Given the description of an element on the screen output the (x, y) to click on. 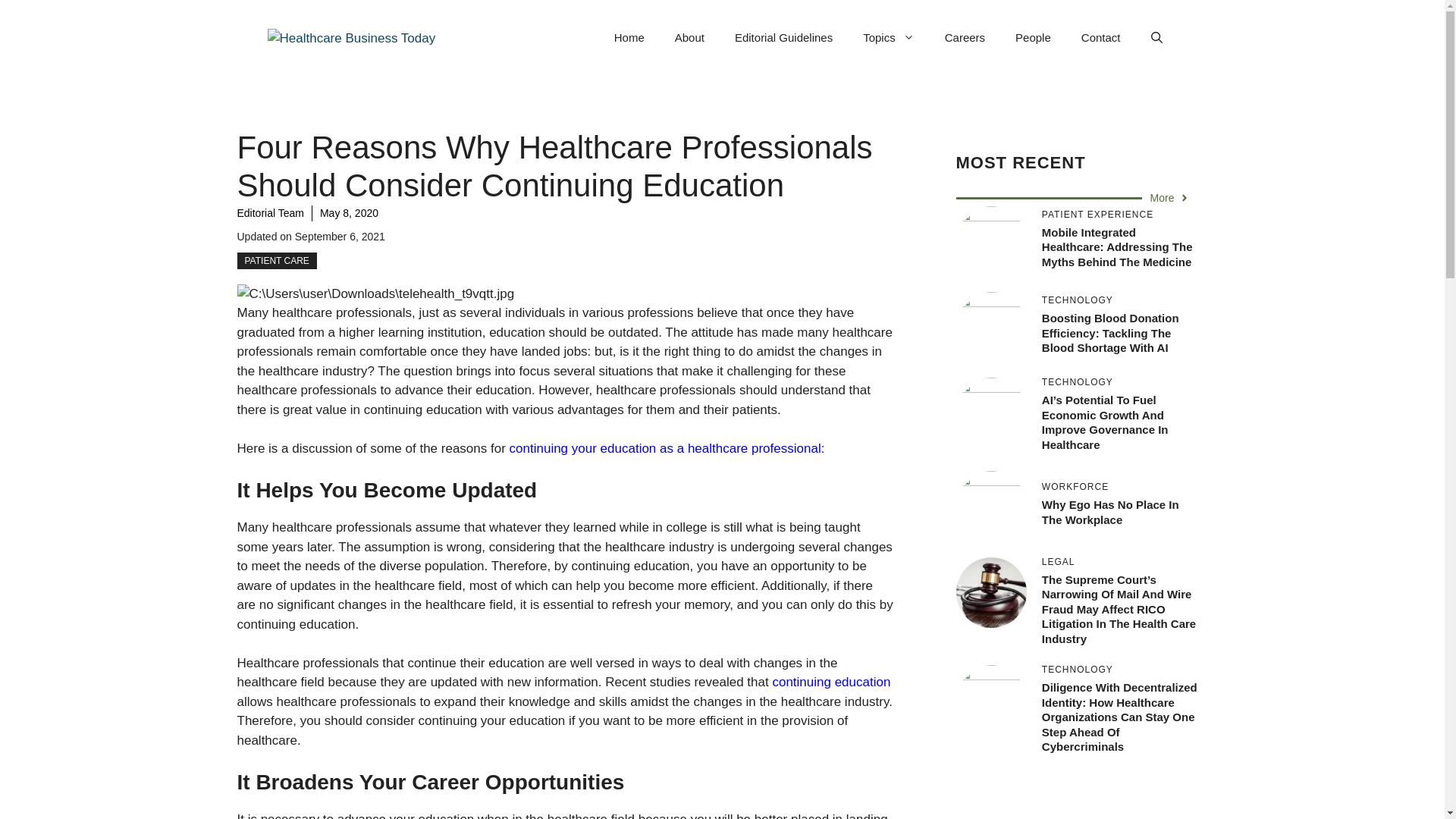
Careers (965, 37)
PATIENT CARE (275, 260)
Contact (1100, 37)
continuing education (830, 681)
continuing your education as a healthcare professional (665, 448)
About (689, 37)
Editorial Team (268, 213)
More (1170, 198)
People (1032, 37)
Editorial Guidelines (783, 37)
Home (628, 37)
Topics (888, 37)
